Given the description of an element on the screen output the (x, y) to click on. 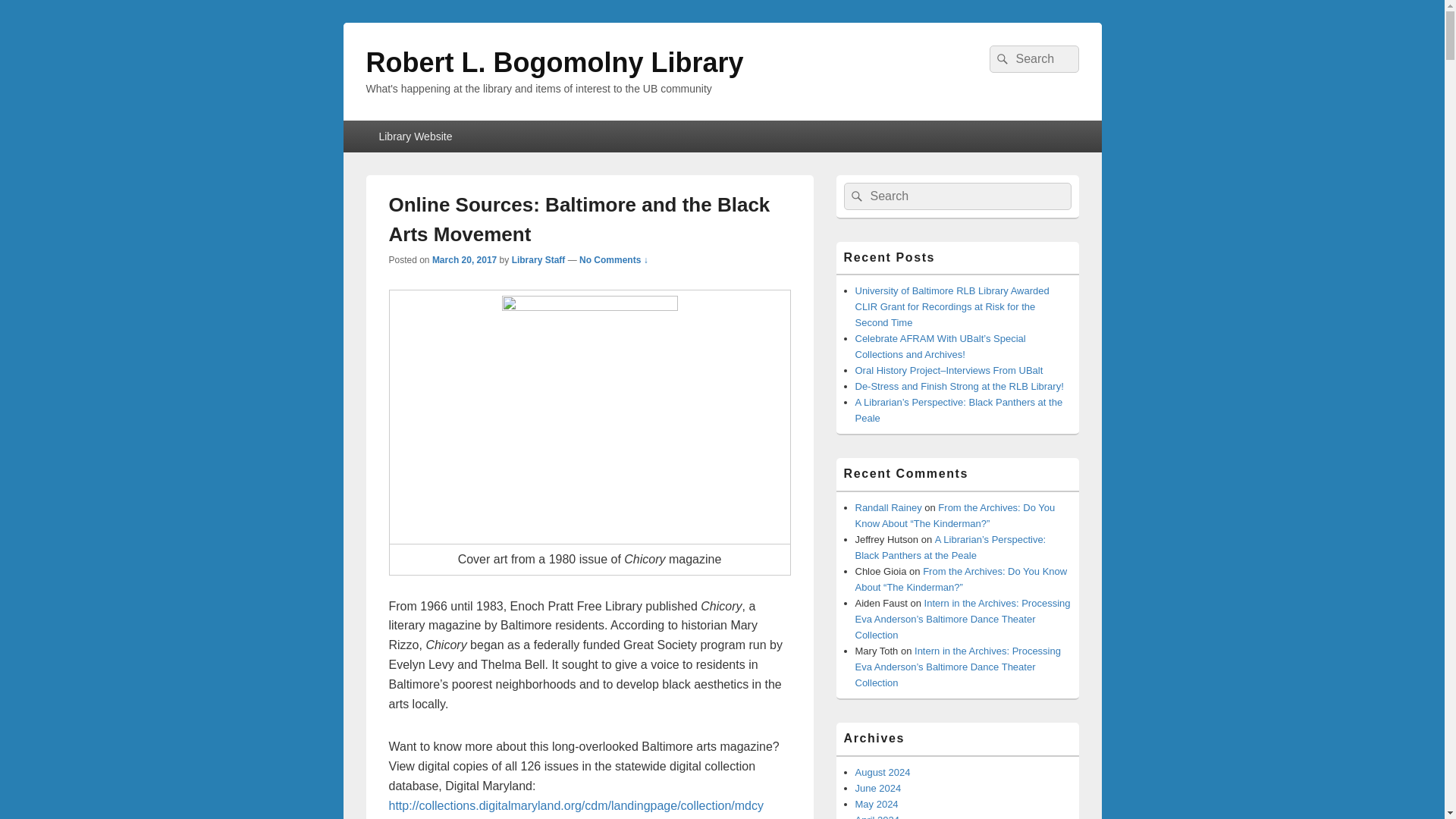
Library Website (414, 136)
May 2024 (877, 803)
View all posts by Library Staff (539, 259)
April 2024 (877, 816)
De-Stress and Finish Strong at the RLB Library! (960, 386)
9:30 pm (464, 259)
Randall Rainey (888, 507)
Library Staff (539, 259)
Search for: (1033, 58)
